Given the description of an element on the screen output the (x, y) to click on. 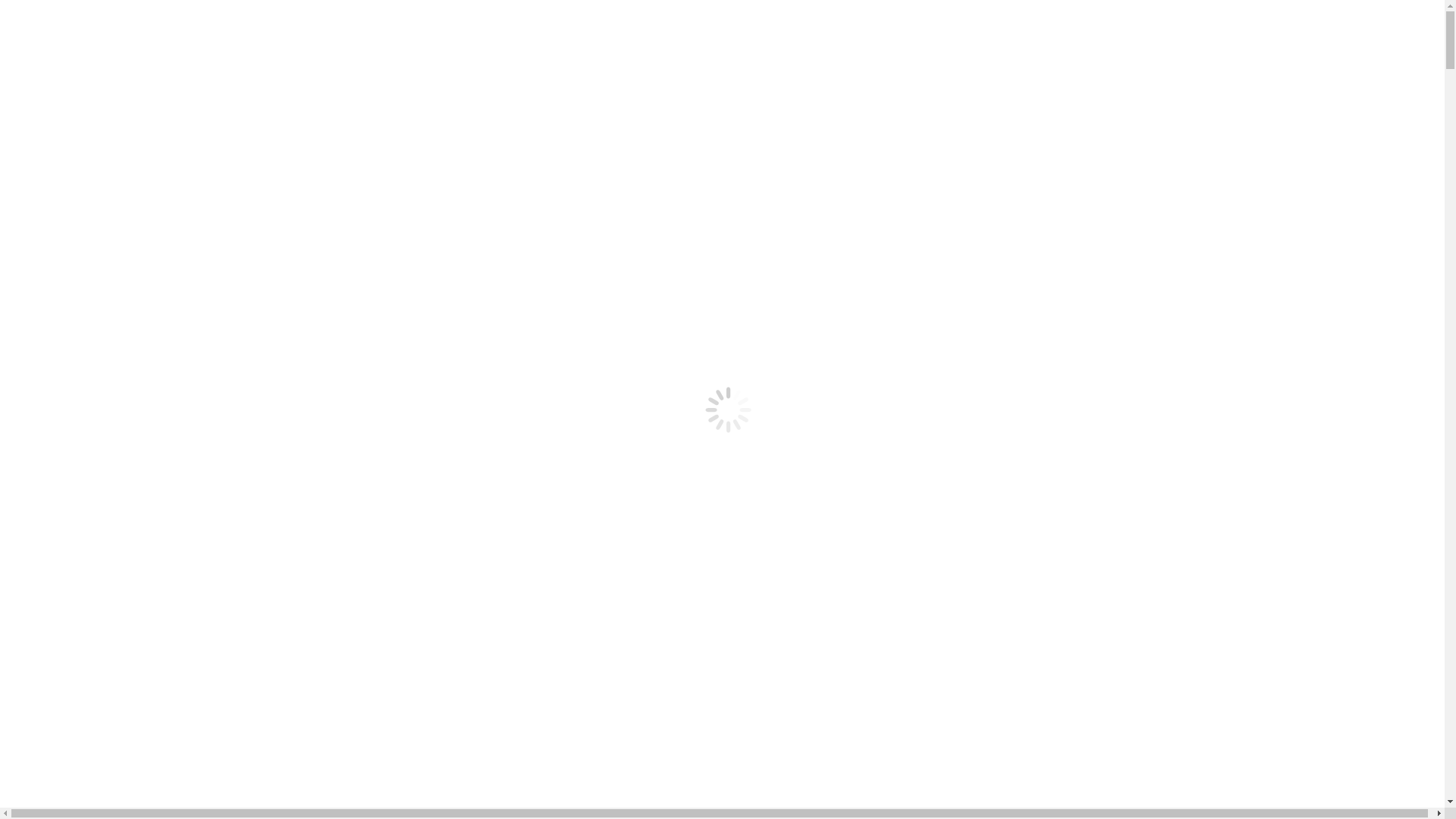
PSYCHIATRY Element type: text (103, 536)
NEWS Element type: text (53, 577)
RESOURCES Element type: text (71, 197)
PAEDIATRICS Element type: text (104, 292)
JOIN Element type: text (49, 427)
Go! Element type: text (20, 57)
LOCATIONS Element type: text (69, 564)
Respiratory Element type: text (423, 740)
LOCATIONS Element type: text (69, 347)
RESPIRATORY Element type: text (106, 333)
Psychiatry Element type: text (370, 740)
CONTACT Element type: text (64, 591)
CONTACT Element type: text (64, 374)
DONATE Element type: text (30, 71)
ADDICTION Element type: text (100, 238)
Cardiology Element type: text (122, 740)
PAIN Element type: text (80, 306)
PSYCHIATRY Element type: text (103, 319)
SPECIALISTS Element type: text (73, 183)
RESPIRATORY Element type: text (106, 550)
Endocrinology Element type: text (186, 740)
PAEDIATRICS Element type: text (104, 509)
ADDICTION Element type: text (100, 454)
ENDOCRINOLOGY Element type: text (119, 265)
Paediatrics Element type: text (296, 740)
Addiction Element type: text (71, 740)
JOIN Element type: text (49, 210)
CARDIOLOGY Element type: text (106, 468)
LOGIN Element type: text (73, 71)
View all Element type: text (26, 740)
Pain Element type: text (333, 740)
NEWS Element type: text (53, 360)
SERVICES Element type: text (64, 224)
Geriatrics Element type: text (245, 740)
GERIATRICS Element type: text (101, 279)
PAIN Element type: text (80, 523)
Skip to content Element type: text (42, 12)
Search form Element type: hover (73, 41)
ENDOCRINOLOGY Element type: text (119, 482)
CARDIOLOGY Element type: text (106, 251)
SPECIALISTS Element type: text (73, 400)
GERIATRICS Element type: text (101, 495)
RESOURCES Element type: text (71, 413)
SERVICES Element type: text (64, 441)
